Given the description of an element on the screen output the (x, y) to click on. 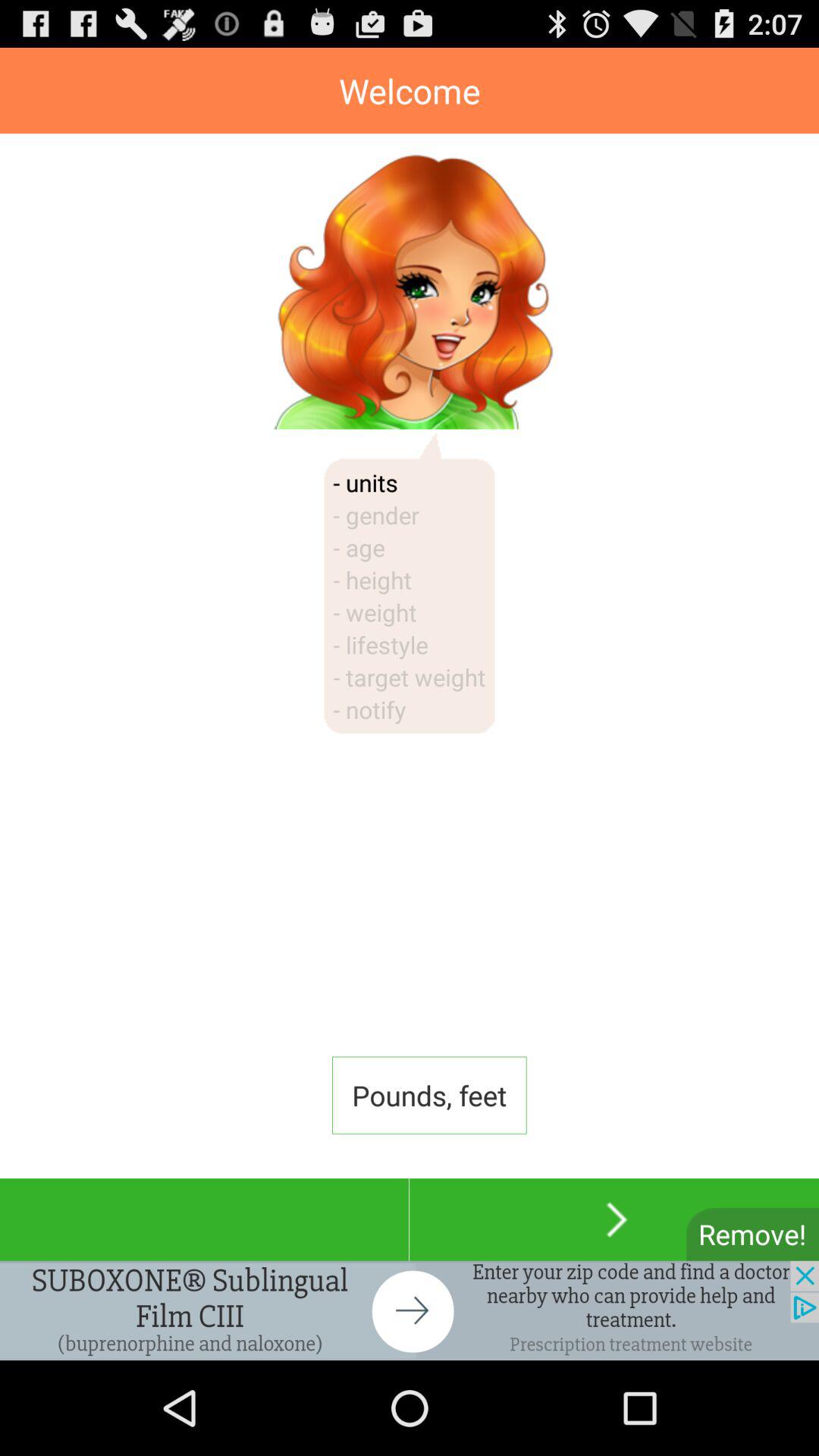
click for more info (409, 1310)
